Given the description of an element on the screen output the (x, y) to click on. 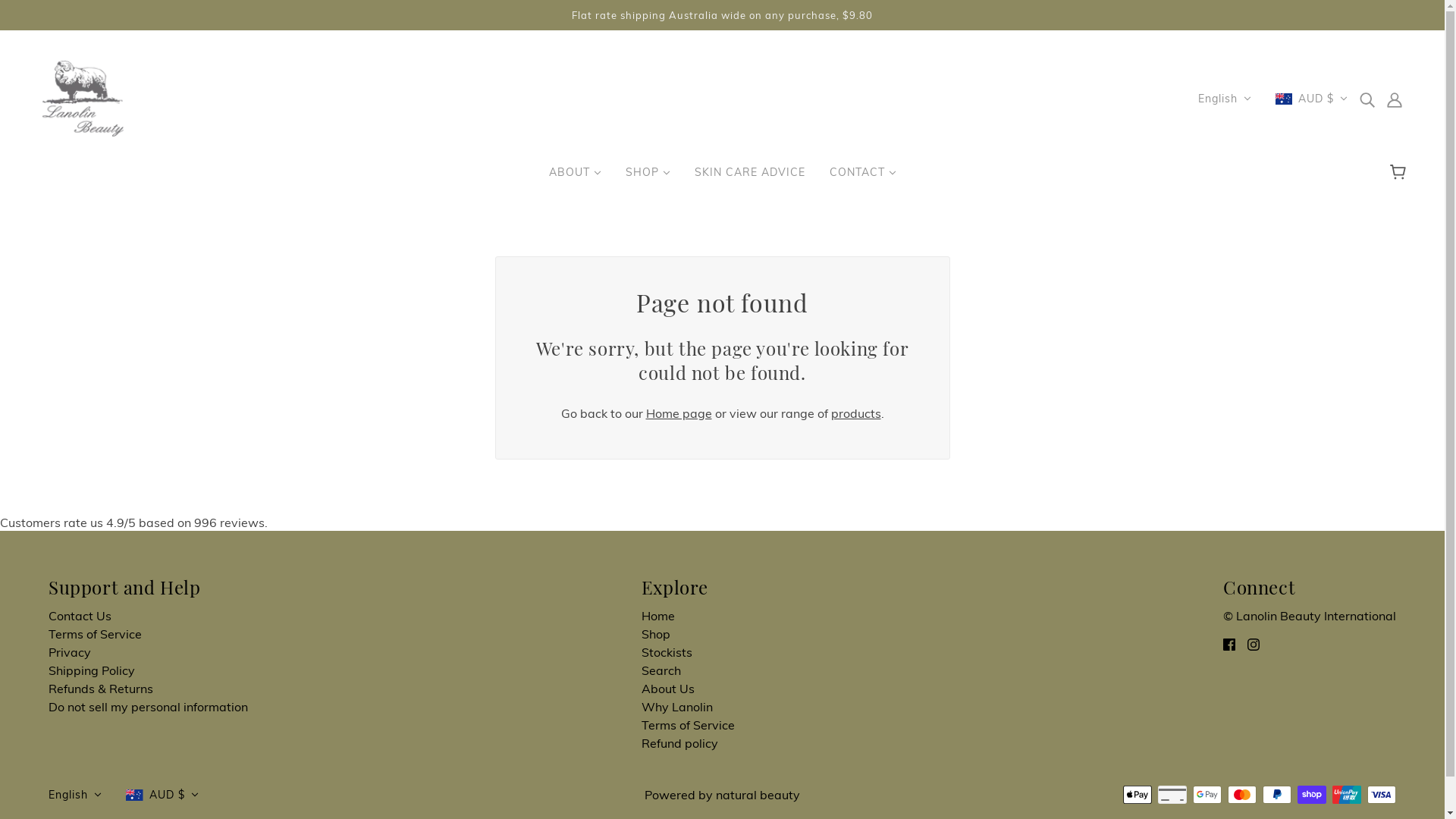
Refund policy Element type: text (679, 742)
Home Element type: text (657, 615)
Shop Element type: text (655, 633)
SKIN CARE ADVICE Element type: text (749, 177)
About Us Element type: text (667, 688)
Stockists Element type: text (666, 651)
Privacy Element type: text (69, 651)
ABOUT Element type: text (574, 177)
products Element type: text (856, 412)
Contact Us Element type: text (79, 615)
Customers rate us 4.9/5 based on 996 reviews. Element type: text (722, 522)
Terms of Service Element type: text (94, 633)
Terms of Service Element type: text (687, 724)
Why Lanolin Element type: text (676, 706)
Search Element type: text (660, 669)
SHOP Element type: text (646, 177)
Do not sell my personal information Element type: text (147, 706)
CONTACT Element type: text (862, 177)
Shipping Policy Element type: text (91, 669)
Home page Element type: text (679, 412)
Refunds & Returns Element type: text (100, 688)
Lanolin Beauty International Element type: hover (82, 96)
Powered by natural beauty Element type: text (722, 794)
